Given the description of an element on the screen output the (x, y) to click on. 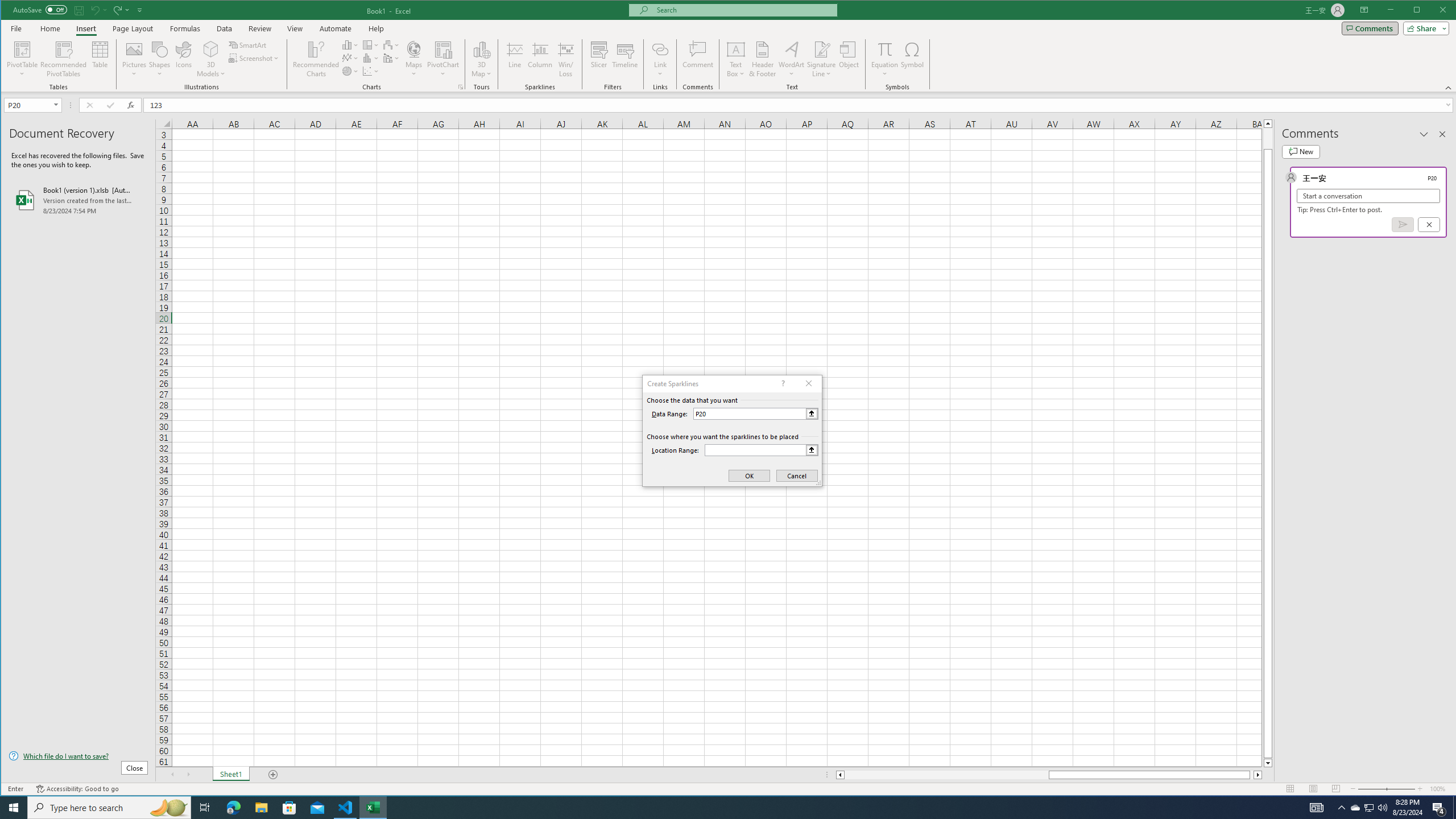
Shapes (159, 59)
Timeline (625, 59)
Win/Loss (565, 59)
Signature Line (821, 59)
Insert Waterfall, Funnel, Stock, Surface, or Radar Chart (391, 44)
Header & Footer... (762, 59)
